Given the description of an element on the screen output the (x, y) to click on. 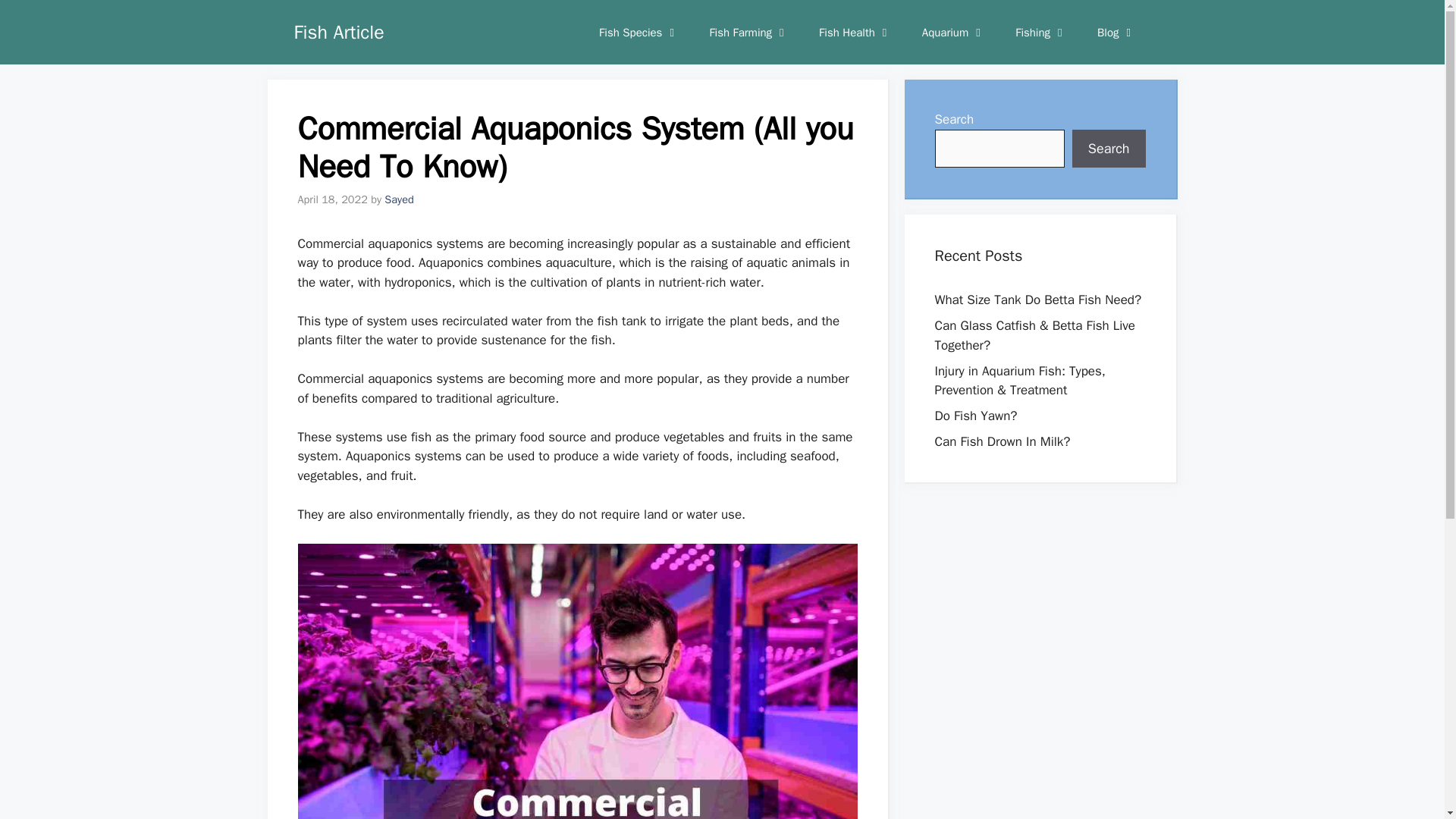
View all posts by Sayed (398, 199)
Fish Health (855, 31)
Fish Article (339, 32)
Fish Farming (748, 31)
Fish Species (638, 31)
Aquarium (953, 31)
